Given the description of an element on the screen output the (x, y) to click on. 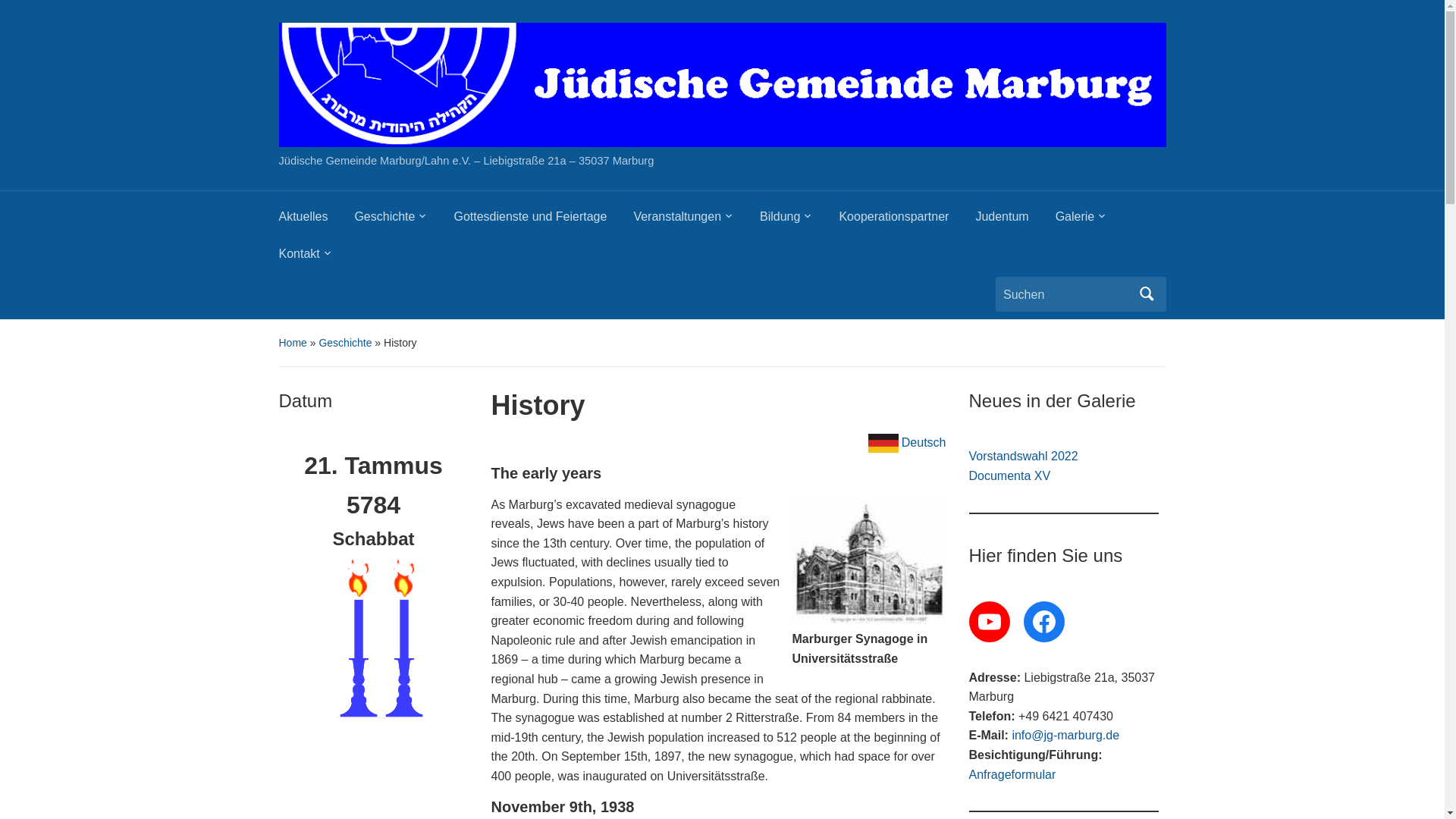
Geschichte (402, 220)
Aktuelles (317, 220)
